Given the description of an element on the screen output the (x, y) to click on. 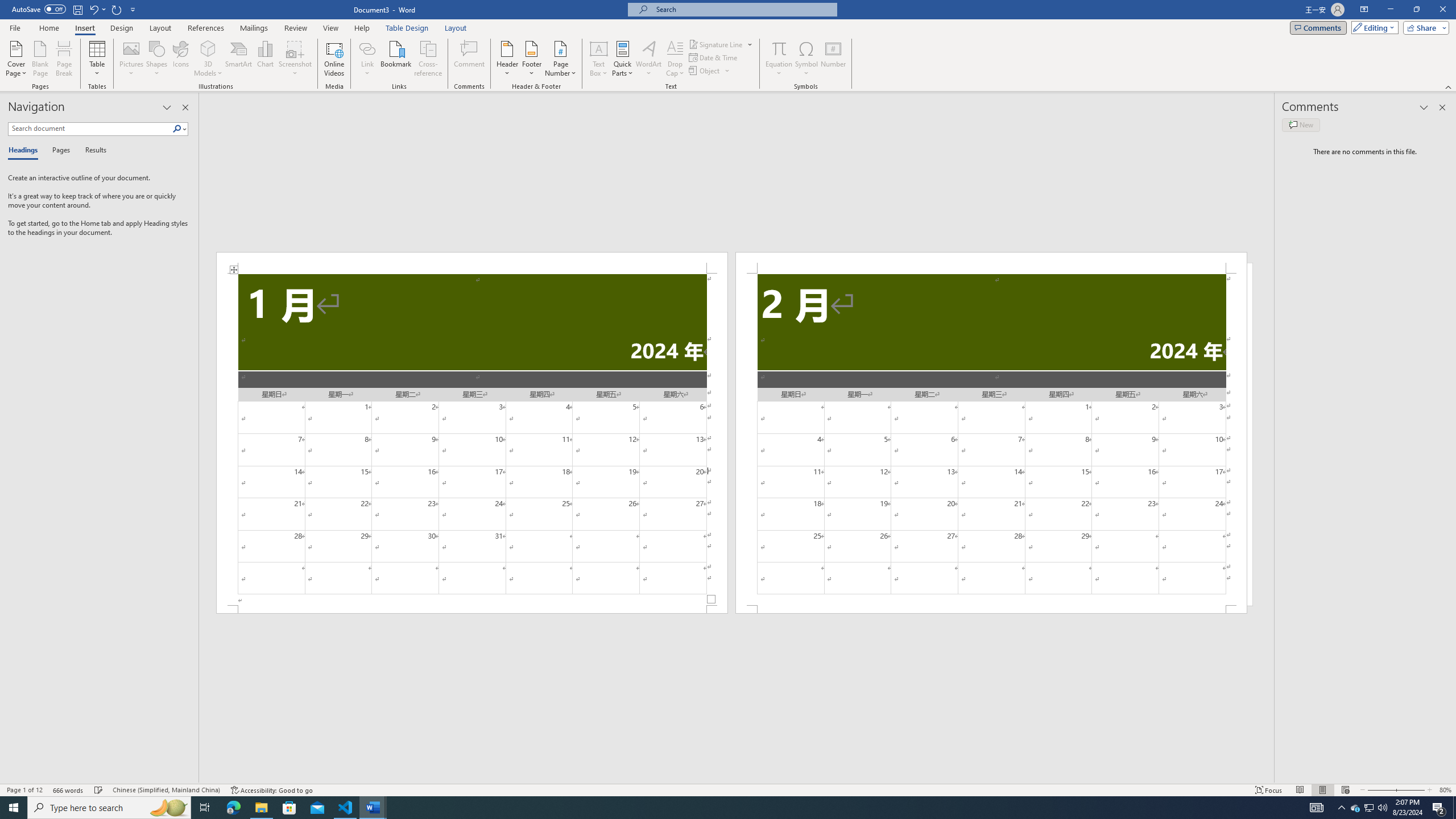
Header (507, 58)
Restore Down (1416, 9)
Comment (469, 58)
Pages (59, 150)
Object... (705, 69)
Word Count 666 words (68, 790)
Footer -Section 2- (991, 609)
Close (1442, 9)
